Given the description of an element on the screen output the (x, y) to click on. 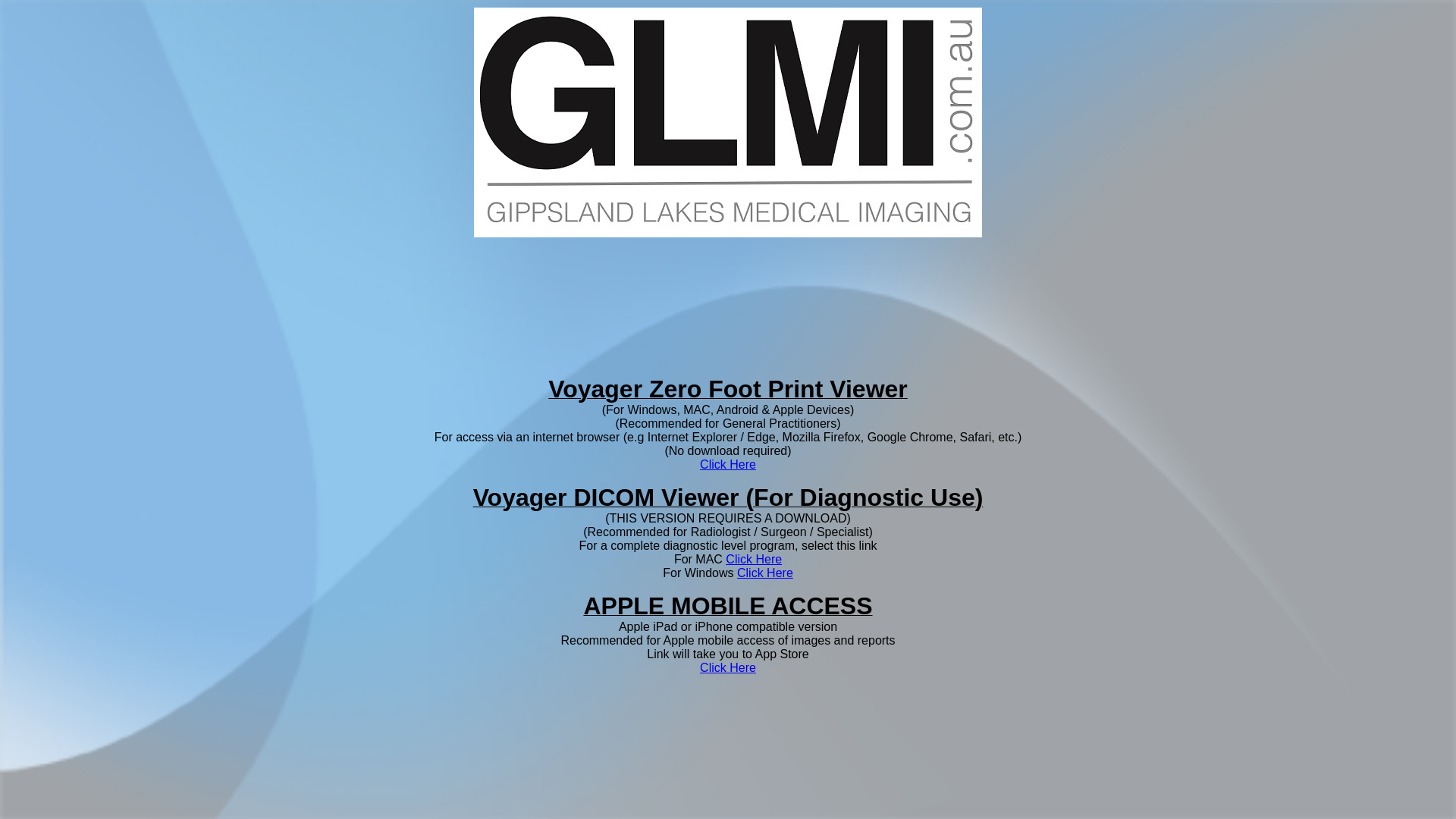
Click Here Element type: text (753, 558)
Click Here Element type: text (765, 572)
Click Here Element type: text (727, 464)
Click Here Element type: text (727, 667)
